Given the description of an element on the screen output the (x, y) to click on. 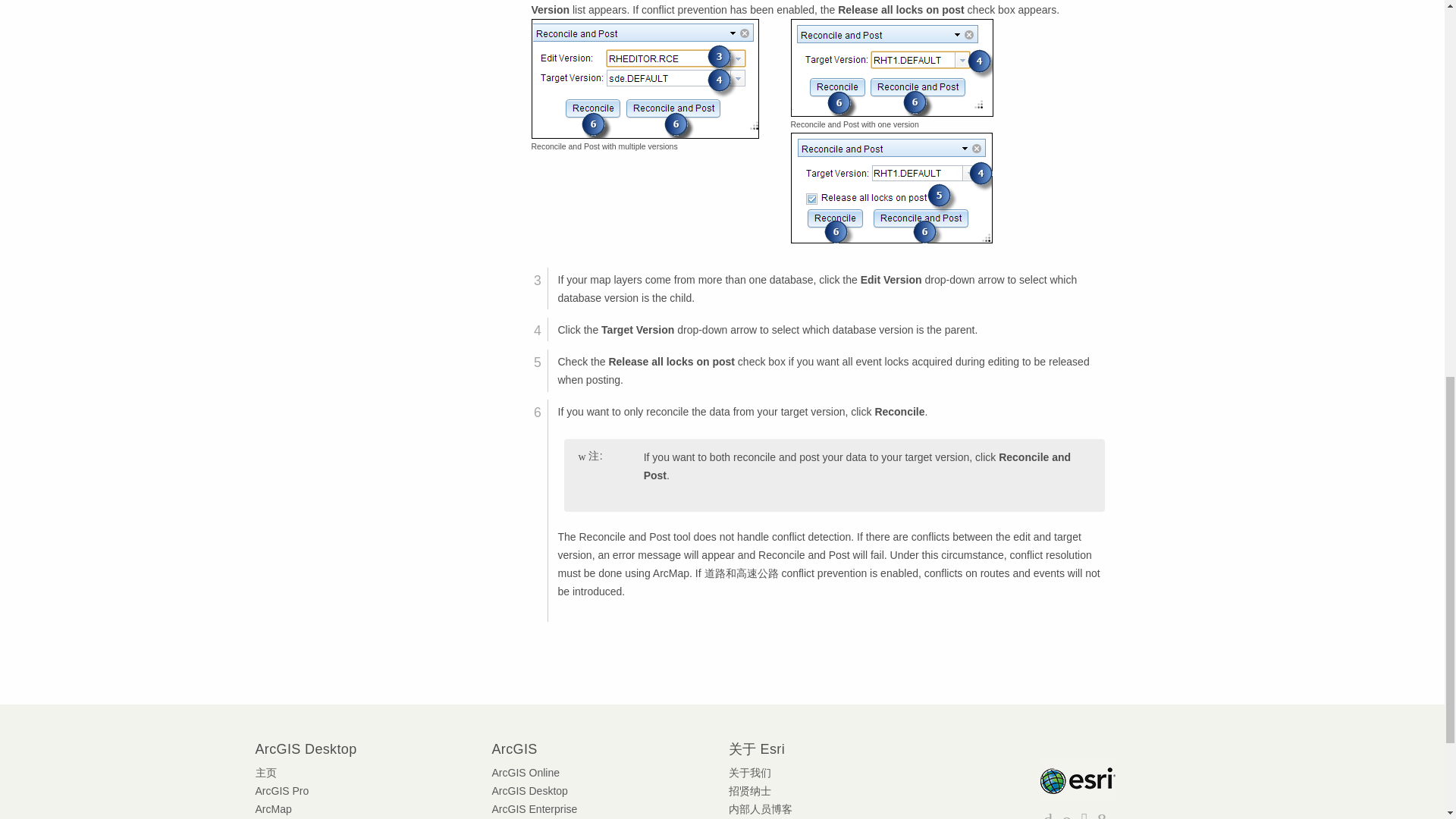
Reconcile and Post with multiple versions (644, 78)
Reconcile and Post with one version (891, 67)
